Given the description of an element on the screen output the (x, y) to click on. 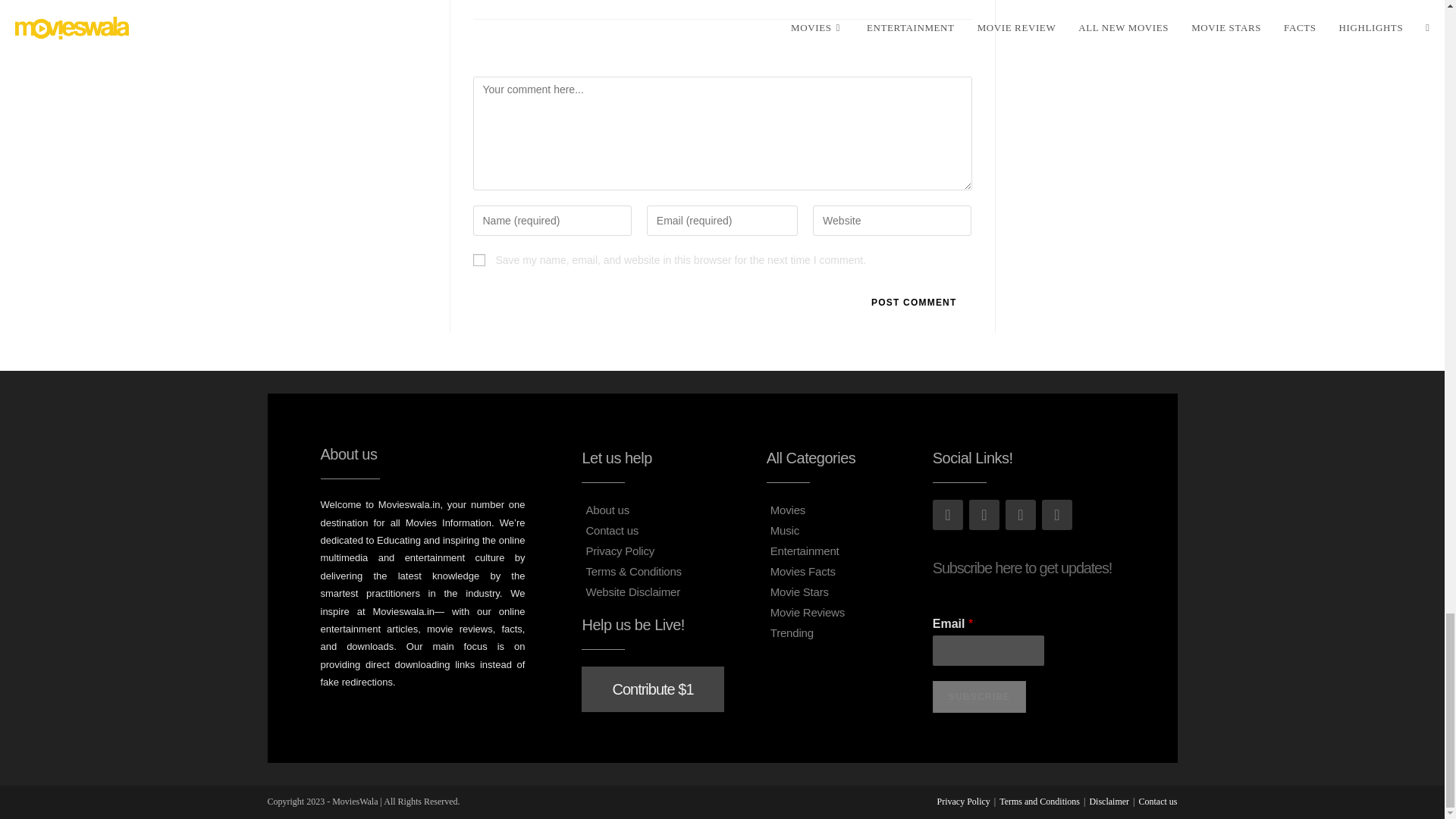
yes (478, 259)
Post Comment (913, 302)
Post Comment (913, 302)
